Given the description of an element on the screen output the (x, y) to click on. 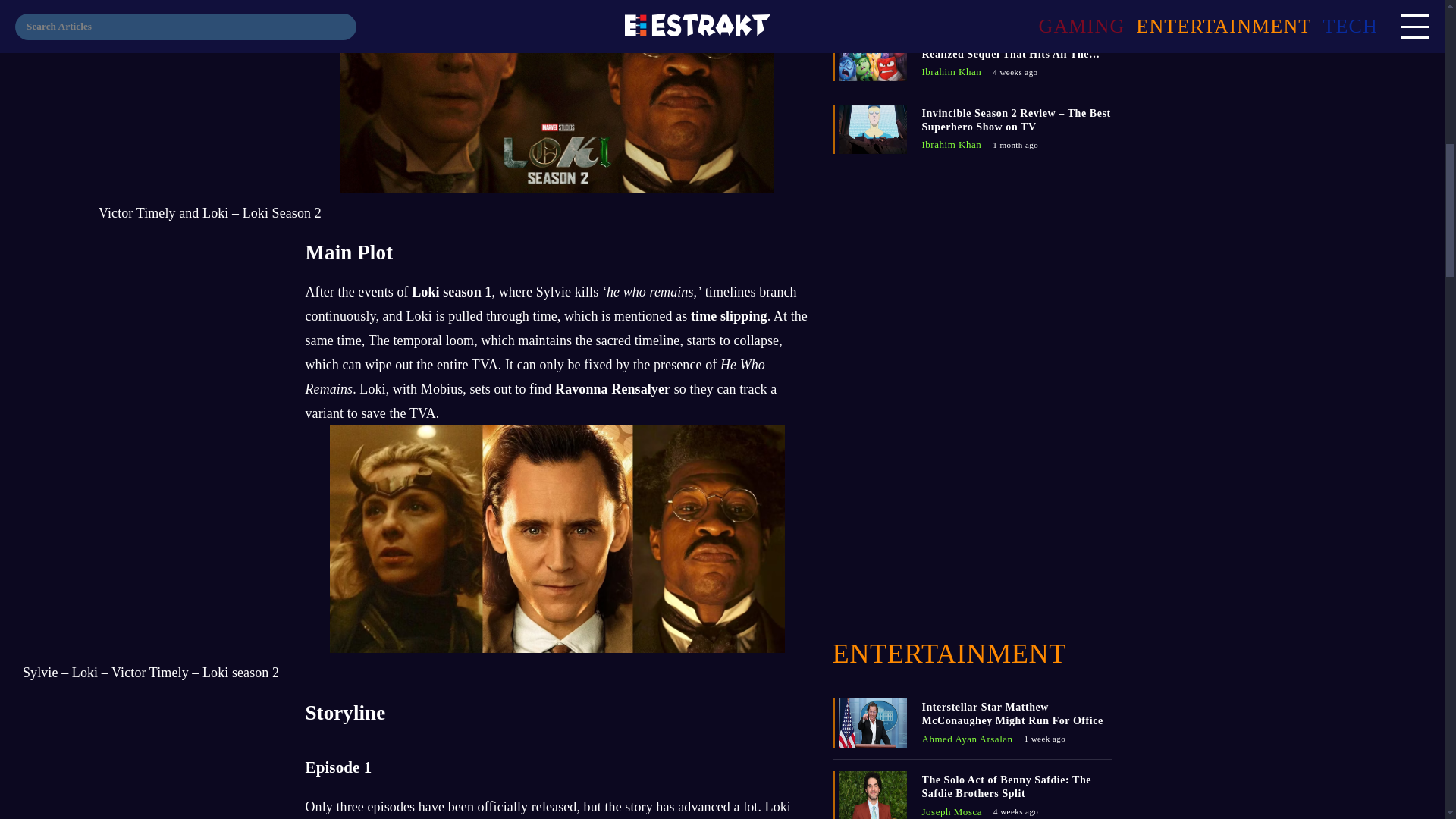
Ibrahim Khan (951, 144)
Joseph Mosca (951, 812)
Ahmed Ayan Arsalan (967, 739)
The Solo Act of Benny Safdie: The Safdie Brothers Split (1016, 786)
Joseph Mosca (951, 2)
Ibrahim Khan (951, 71)
Interstellar Star Matthew McConaughey Might Run For Office (1016, 714)
